Given the description of an element on the screen output the (x, y) to click on. 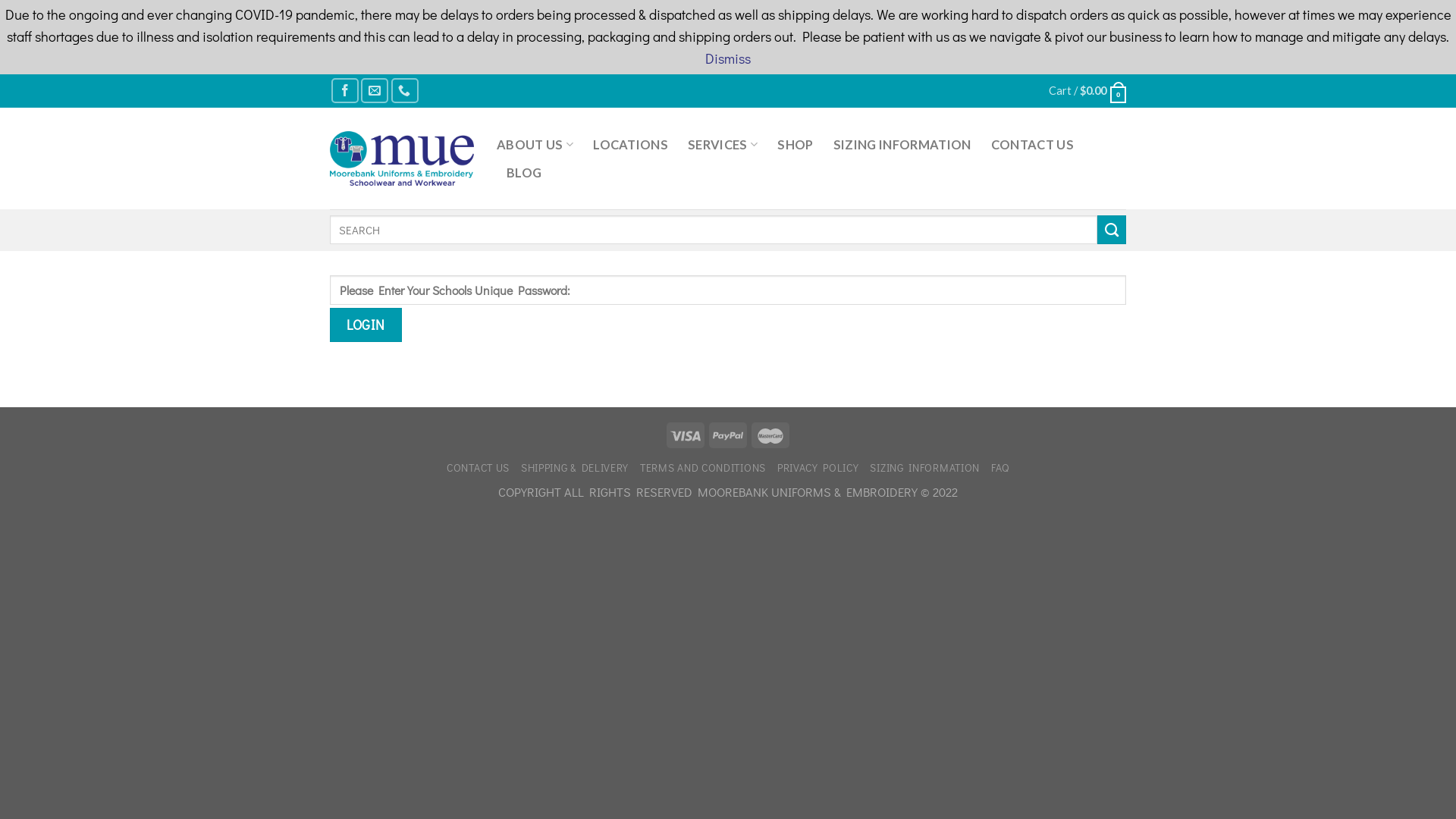
PRIVACY POLICY Element type: text (818, 467)
SHOP Element type: text (794, 144)
Dismiss Element type: text (727, 58)
LOCATIONS Element type: text (630, 144)
Cart / $0.00
0 Element type: text (1087, 90)
CONTACT US Element type: text (477, 467)
Moorebank Uniforms & Embroidery - Schoolwear and Workwear Element type: hover (401, 158)
Search Element type: text (1111, 229)
FAQ Element type: text (1000, 467)
SERVICES Element type: text (722, 144)
BLOG Element type: text (523, 172)
Send us an email Element type: hover (374, 90)
Login Element type: text (365, 324)
ABOUT US Element type: text (534, 144)
SHIPPING & DELIVERY Element type: text (574, 467)
Follow on Facebook Element type: hover (344, 90)
Call us Element type: hover (404, 90)
CONTACT US Element type: text (1032, 144)
SIZING INFORMATION Element type: text (902, 144)
SIZING INFORMATION Element type: text (924, 467)
TERMS AND CONDITIONS Element type: text (702, 467)
